Given the description of an element on the screen output the (x, y) to click on. 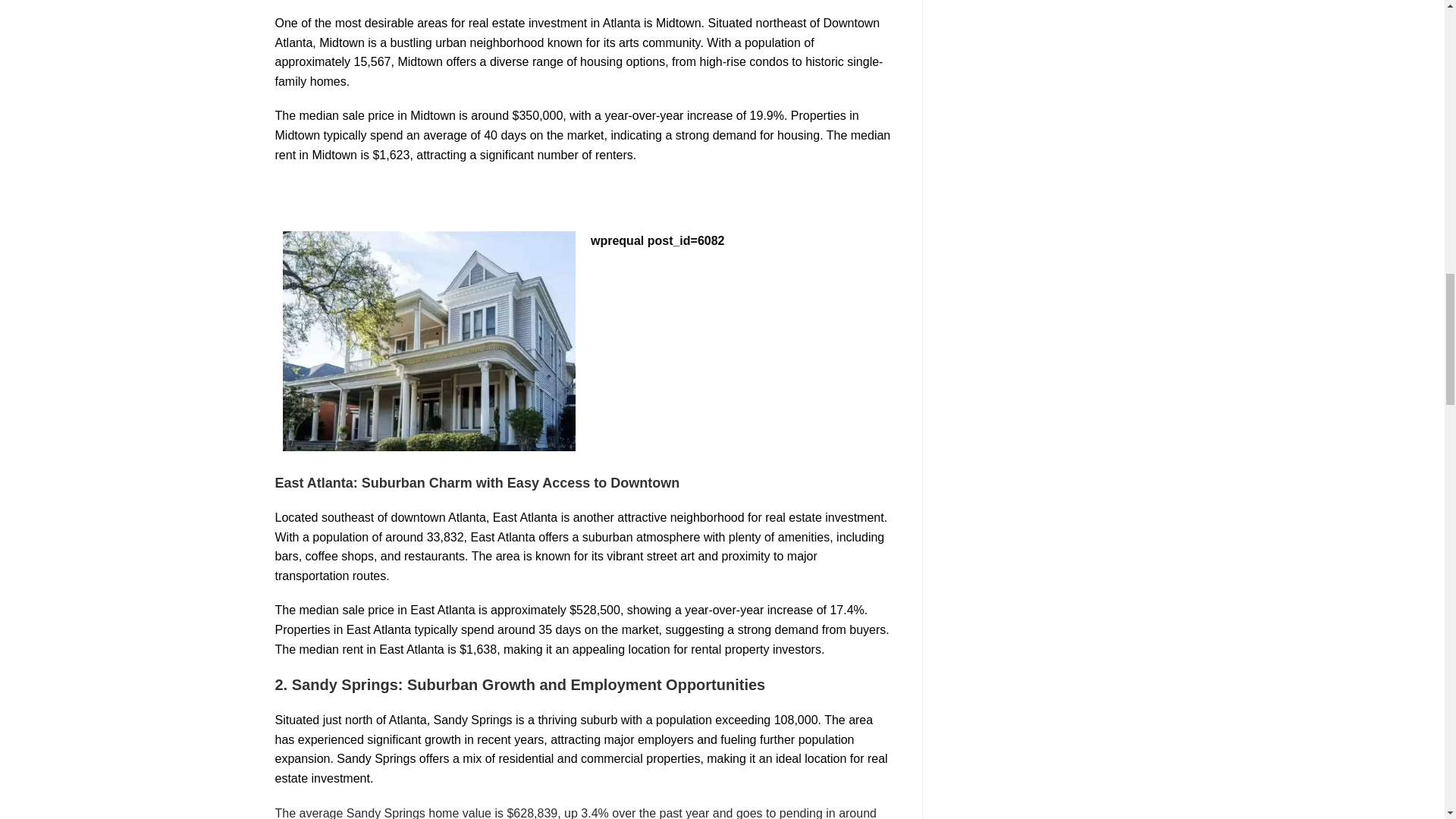
Best Place In Georgia To Invest In Real Estate (428, 340)
